Given the description of an element on the screen output the (x, y) to click on. 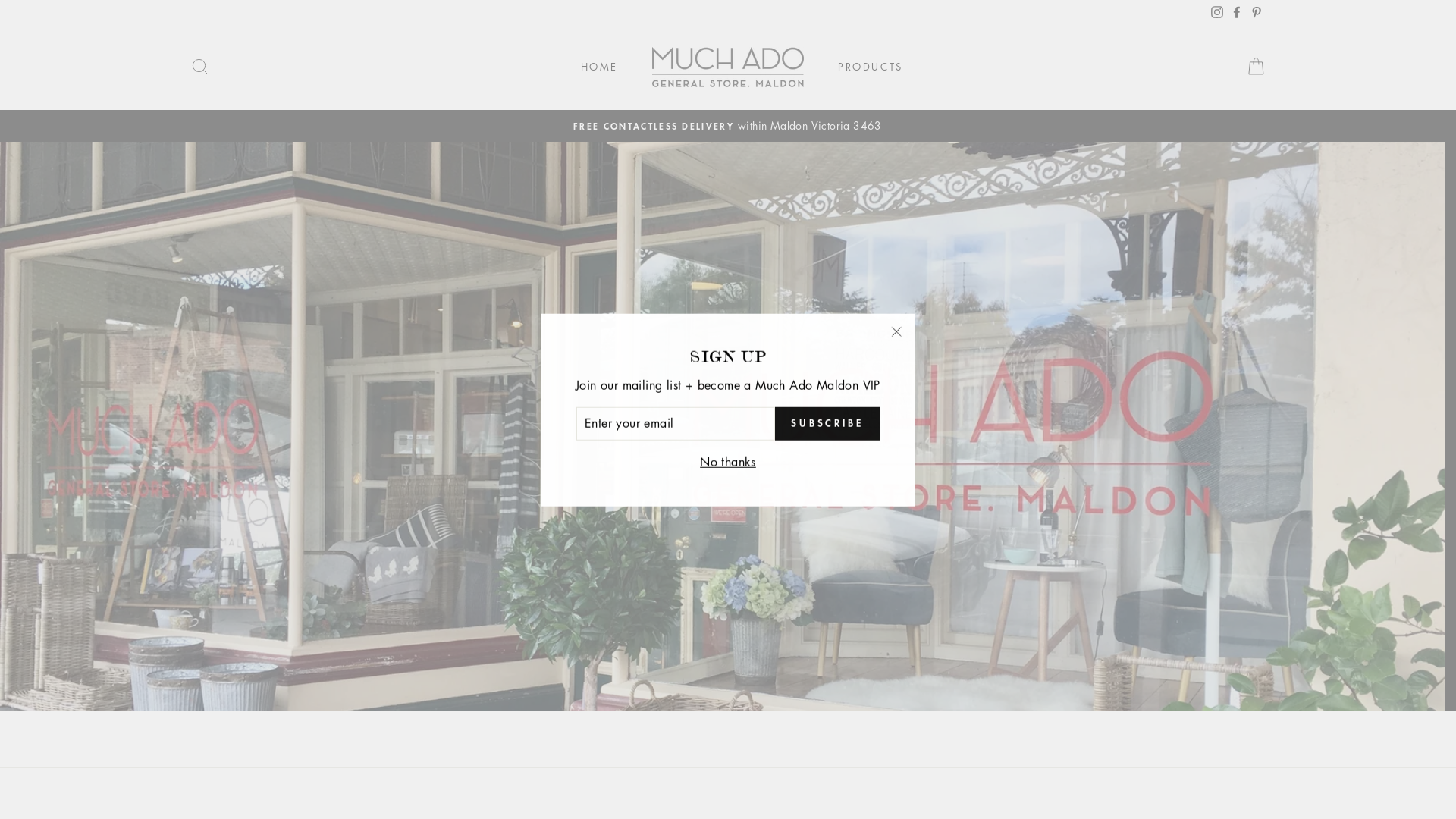
Pinterest Element type: text (1250, 12)
Facebook Element type: text (1230, 12)
PRODUCTS Element type: text (864, 66)
SEARCH Element type: text (193, 66)
Skip to content Element type: text (0, 0)
CART Element type: text (1249, 66)
HOME Element type: text (593, 66)
Instagram Element type: text (1210, 12)
